Given the description of an element on the screen output the (x, y) to click on. 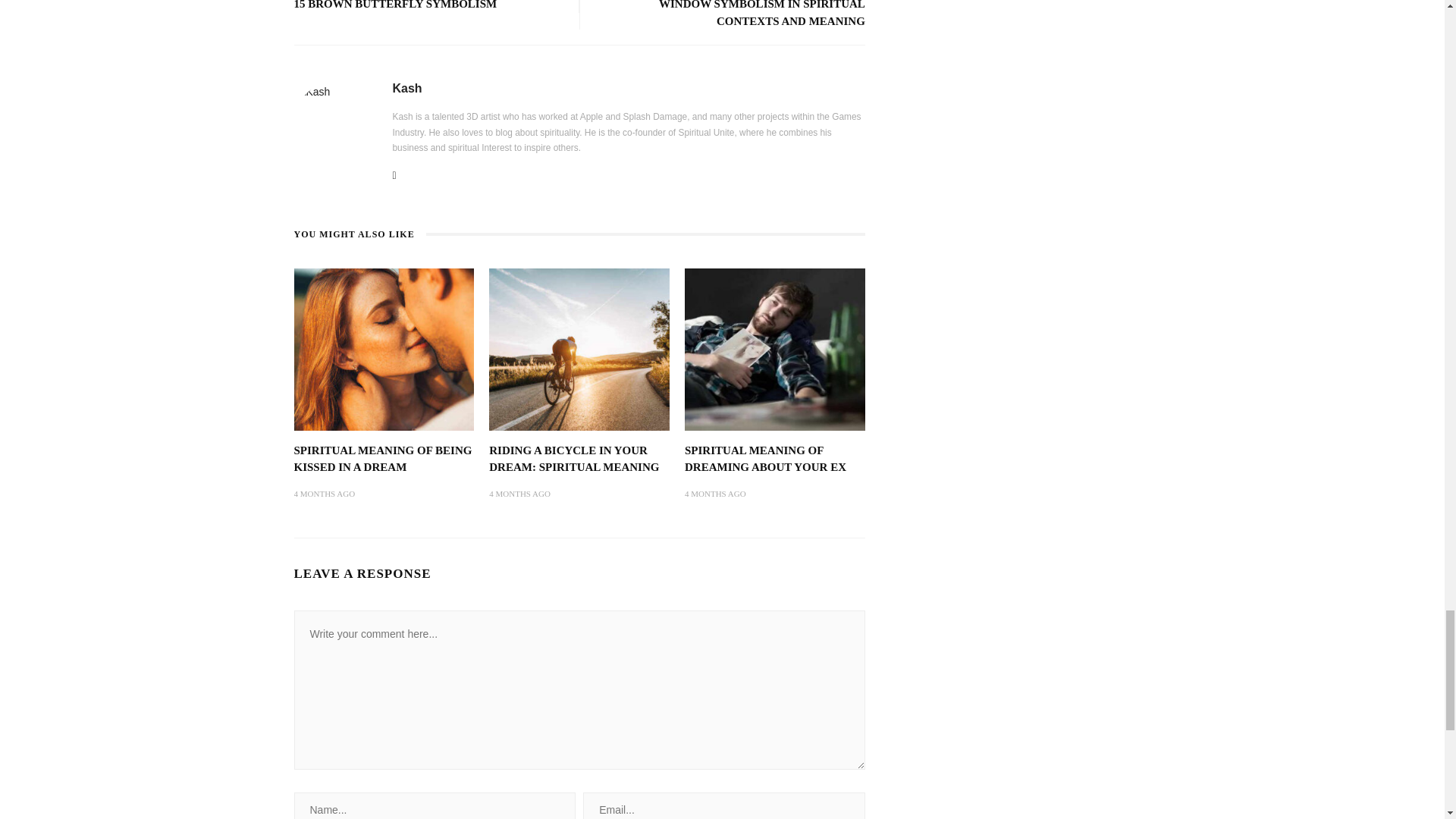
WINDOW SYMBOLISM IN SPIRITUAL CONTEXTS AND MEANING (761, 13)
Riding a Bicycle in Your Dream: Spiritual Meaning (579, 348)
Riding a Bicycle in Your Dream: Spiritual Meaning (574, 459)
Kash (407, 88)
Website (394, 176)
Spiritual Meaning Of Dreaming About Your Ex (774, 348)
SPIRITUAL MEANING OF BEING KISSED IN A DREAM (382, 459)
Spiritual Meaning Of Being Kissed In A Dream (384, 348)
RIDING A BICYCLE IN YOUR DREAM: SPIRITUAL MEANING (574, 459)
15 BROWN BUTTERFLY SYMBOLISM (395, 4)
Spiritual Meaning Of Being Kissed In A Dream (382, 459)
Spiritual Meaning Of Dreaming About Your Ex (764, 459)
SPIRITUAL MEANING OF DREAMING ABOUT YOUR EX (764, 459)
